Given the description of an element on the screen output the (x, y) to click on. 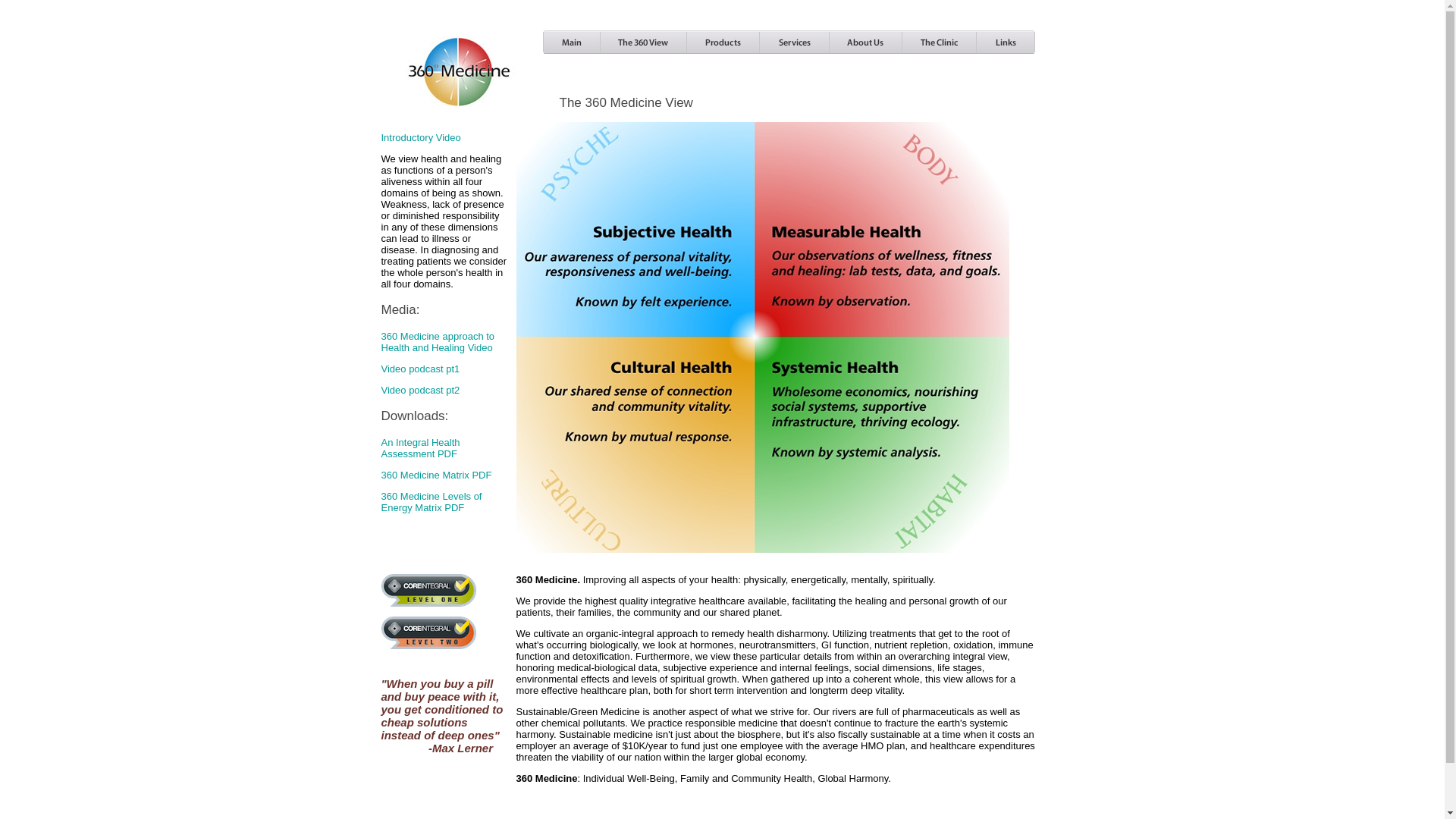
Video podcast pt2 Element type: text (419, 389)
360 Medicine approach to Health and Healing Video Element type: text (437, 341)
Introductory Video Element type: text (420, 137)
360 Medicine Matrix PDF Element type: text (435, 474)
An Integral Health Assessment PDF Element type: text (419, 447)
Video podcast pt1 Element type: text (419, 368)
360 Medicine Levels of Energy Matrix PDF Element type: text (430, 501)
